Given the description of an element on the screen output the (x, y) to click on. 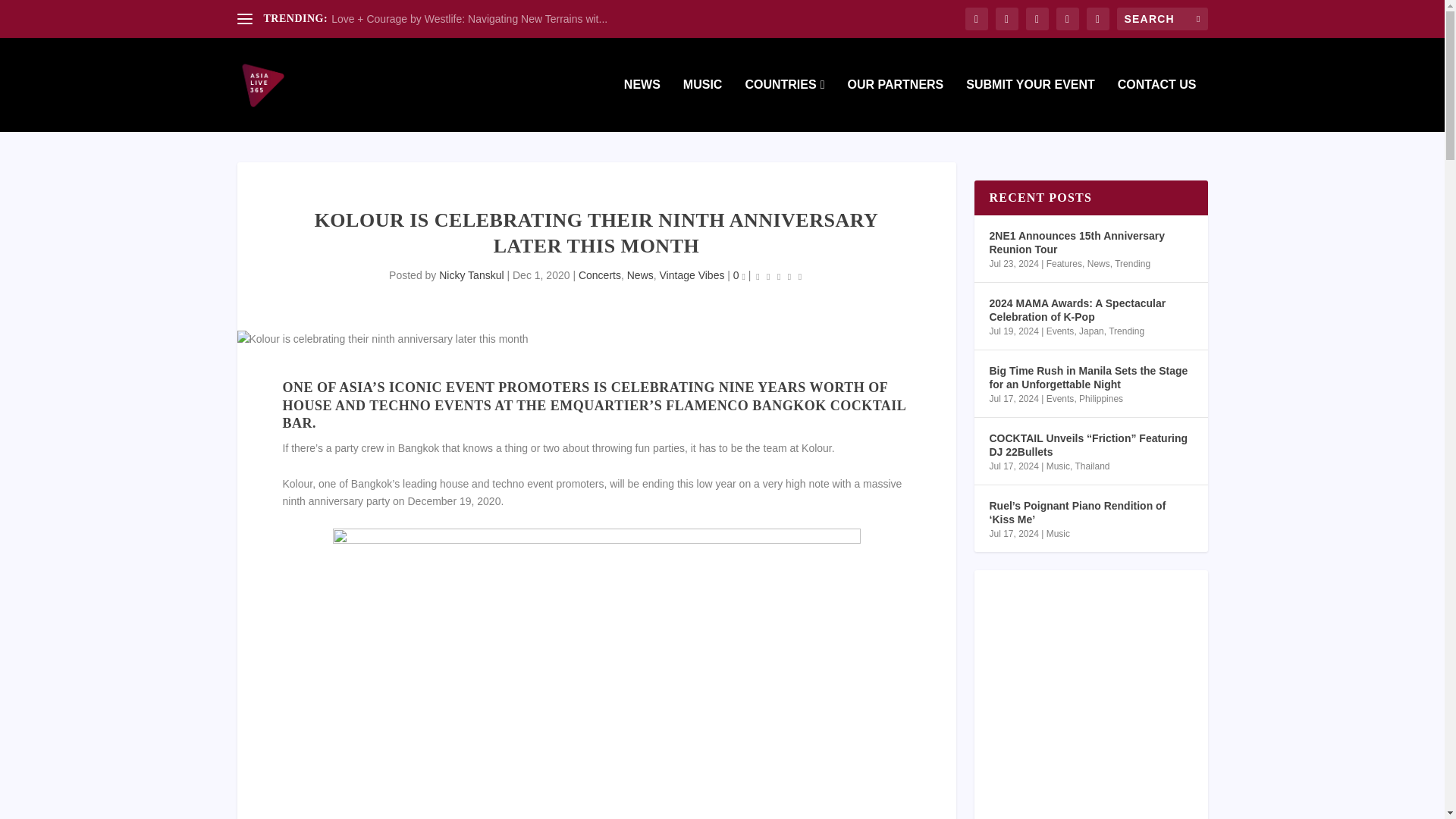
Rating: 0.00 (778, 275)
COUNTRIES (784, 104)
Posts by Nicky Tanskul (471, 275)
Concerts (599, 275)
NEWS (642, 104)
News (640, 275)
MUSIC (702, 104)
CONTACT US (1157, 104)
SUBMIT YOUR EVENT (1030, 104)
OUR PARTNERS (895, 104)
Search for: (1161, 18)
comment count (743, 276)
Nicky Tanskul (471, 275)
Vintage Vibes (692, 275)
